Given the description of an element on the screen output the (x, y) to click on. 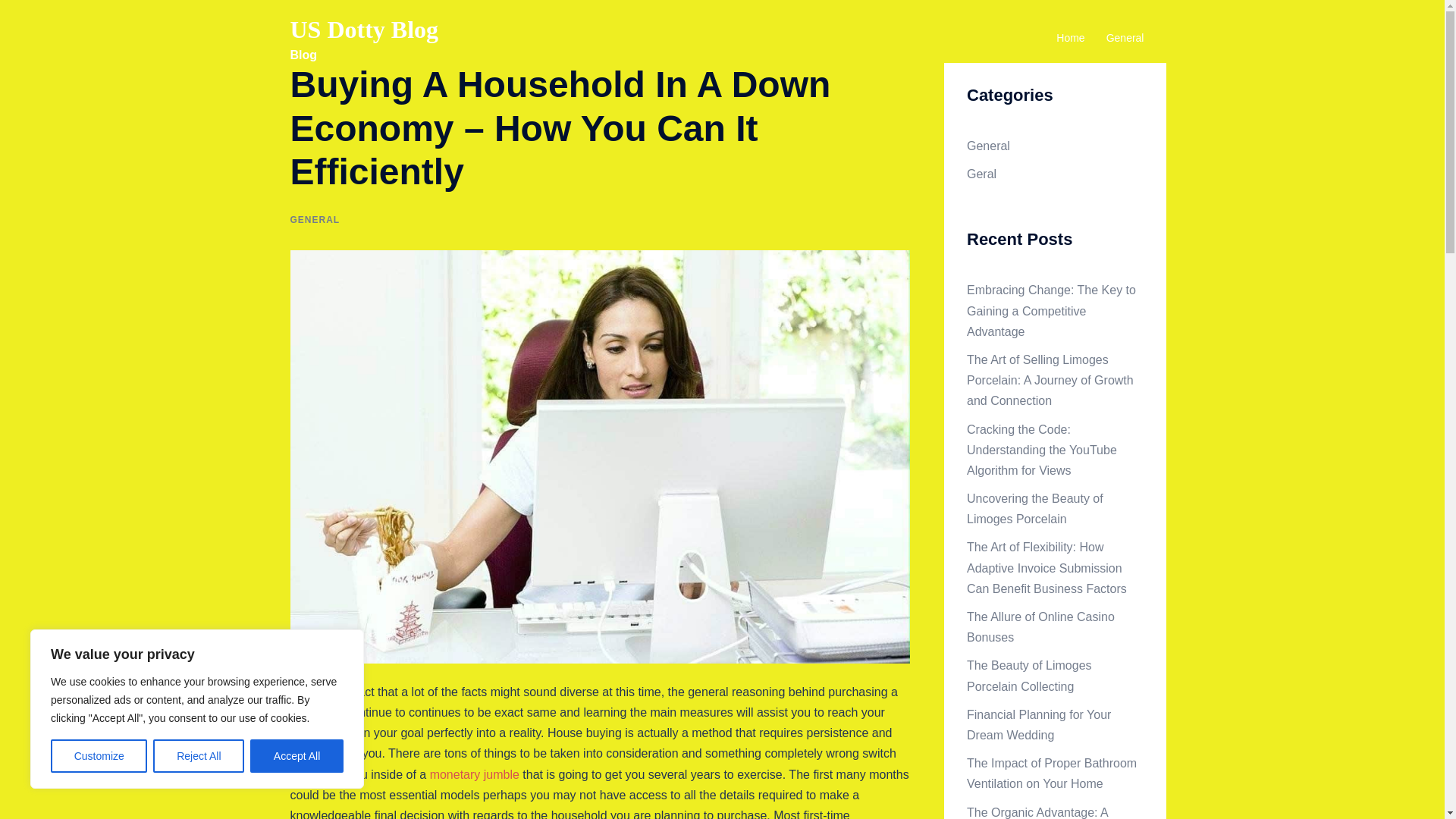
General (1125, 38)
General (988, 145)
Uncovering the Beauty of Limoges Porcelain (1034, 508)
Accept All (296, 756)
Customize (98, 756)
The Beauty of Limoges Porcelain Collecting (1029, 675)
US Dotty Blog (363, 29)
GENERAL (314, 219)
Home (1070, 38)
Embracing Change: The Key to Gaining a Competitive Advantage (1050, 310)
Geral (980, 173)
monetary jumble (474, 774)
